Given the description of an element on the screen output the (x, y) to click on. 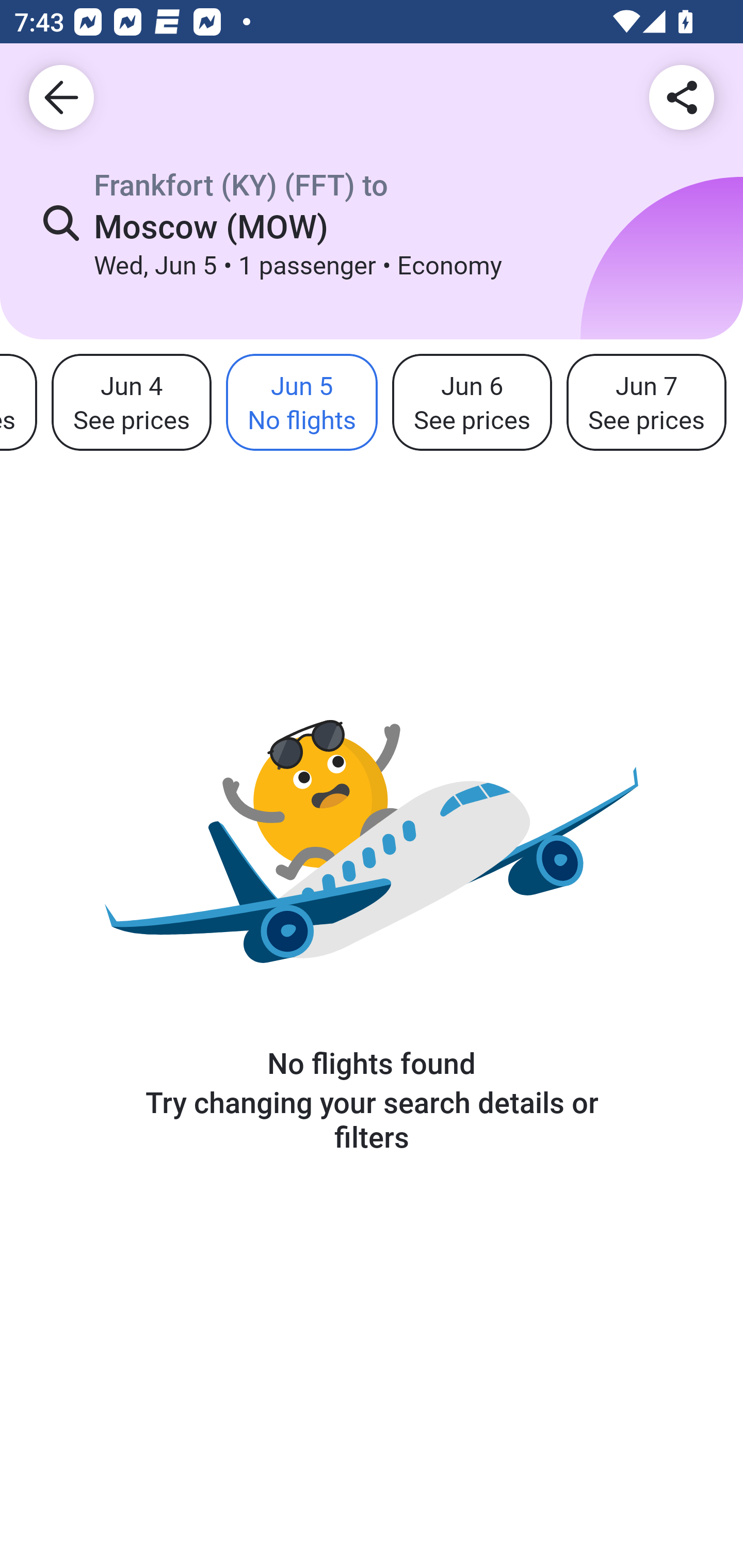
Jun 4 See prices (131, 402)
Jun 5 No flights (301, 402)
Jun 6 See prices (472, 402)
Jun 7 See prices (646, 402)
